Given the description of an element on the screen output the (x, y) to click on. 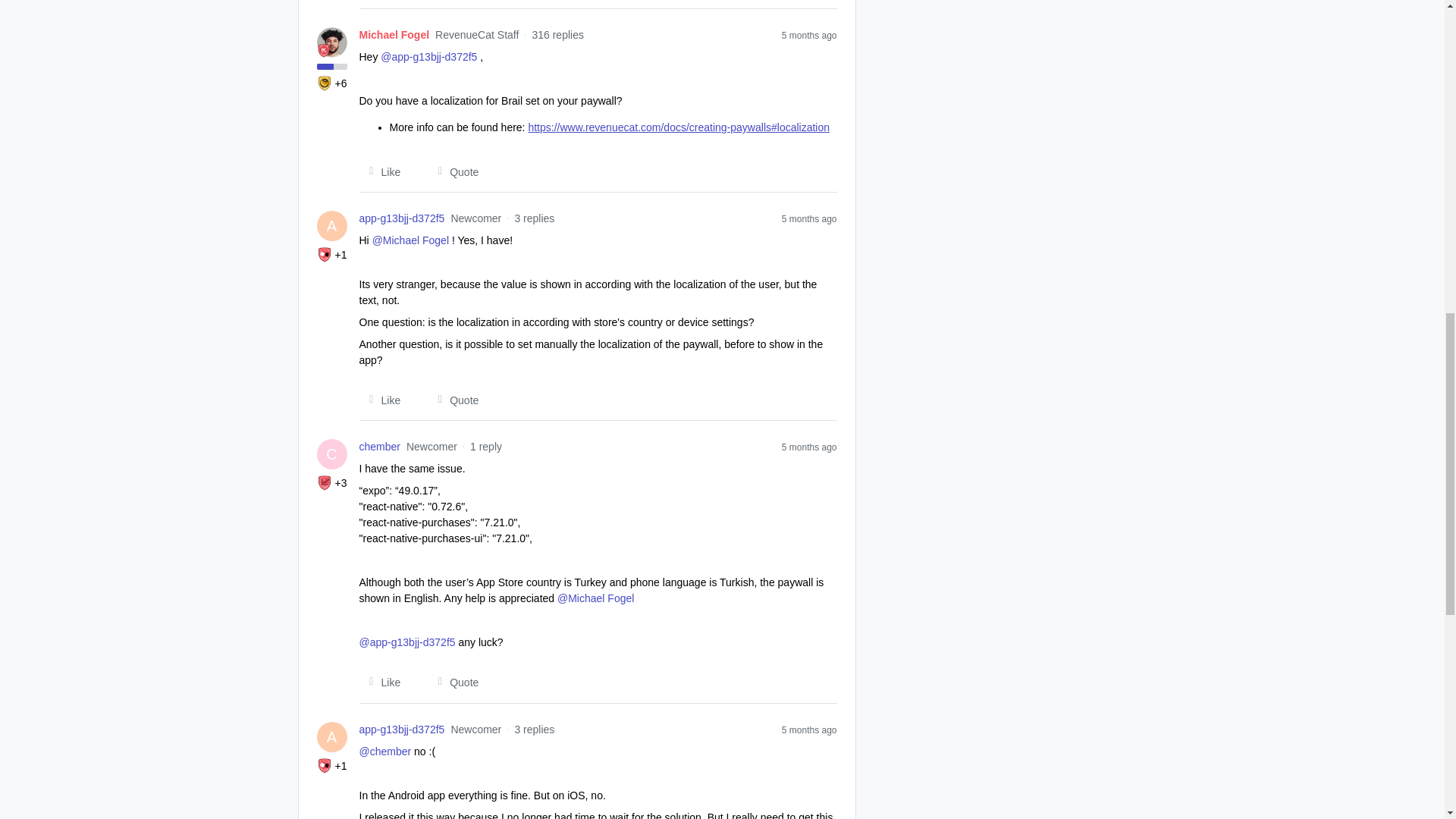
Quote (453, 171)
Michael Fogel (394, 35)
app-g13bjj-d372f5 (402, 218)
Like (380, 400)
Top Banana (324, 83)
Like (380, 682)
Strength In Numbers (324, 482)
Like (380, 171)
RevenueCat Staff (323, 50)
5 months ago (809, 218)
C (332, 453)
app-g13bjj-d372f5 (402, 729)
5 months ago (809, 446)
Michael Fogel (394, 35)
Quote (453, 400)
